Given the description of an element on the screen output the (x, y) to click on. 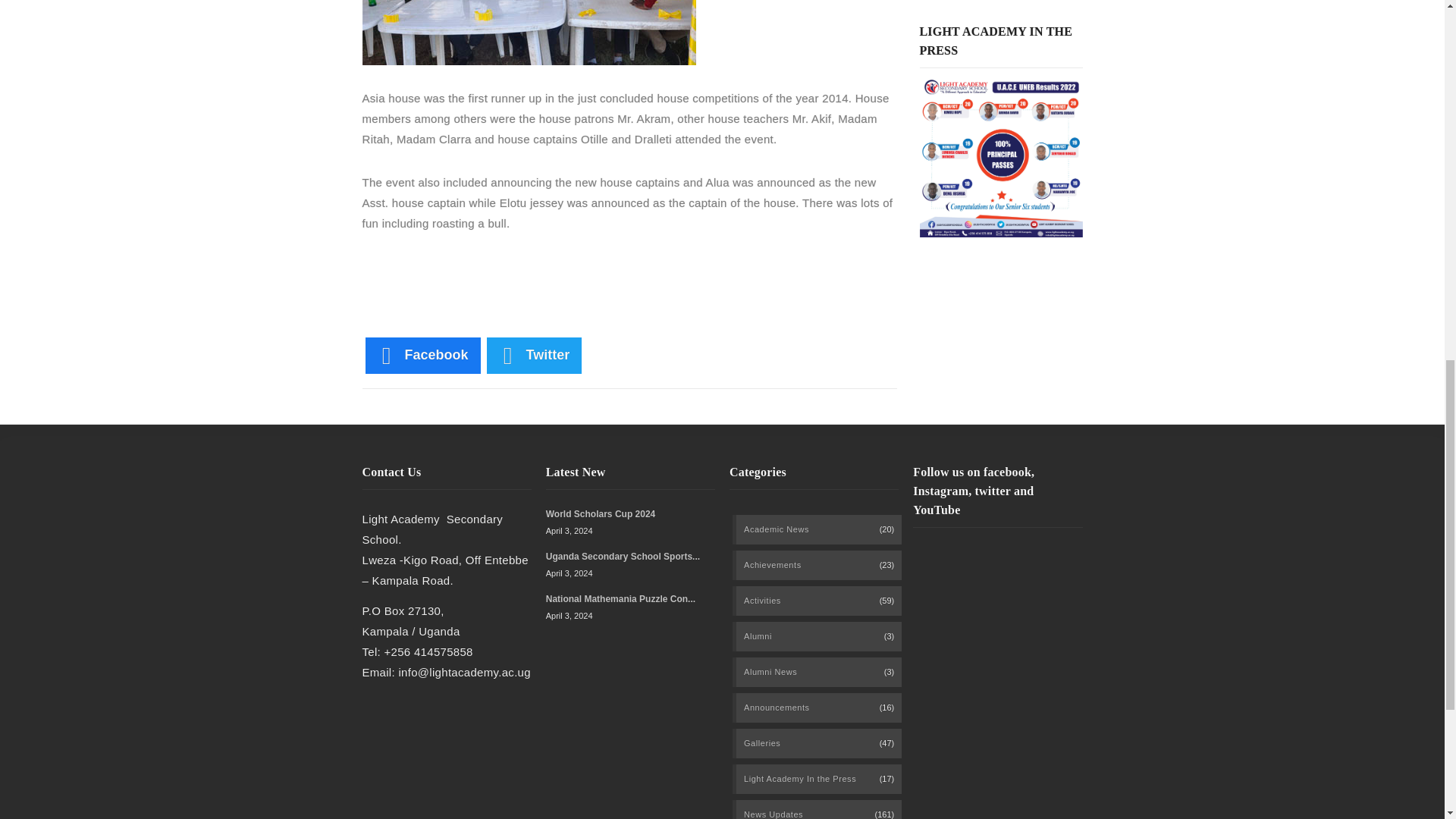
Share this article on Facebook (422, 355)
Share this article on Twitter (534, 355)
